Given the description of an element on the screen output the (x, y) to click on. 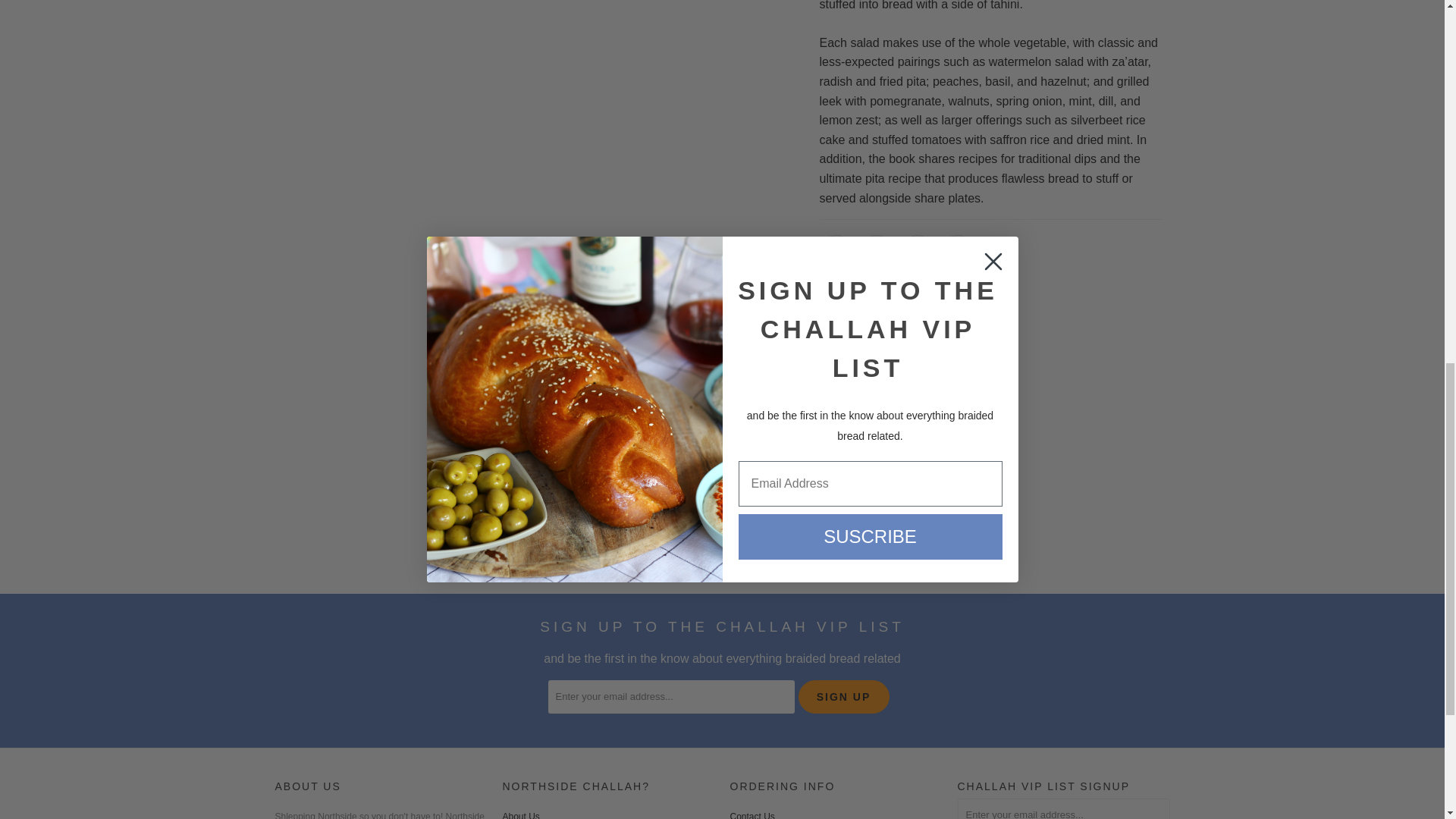
Share this on Twitter (834, 251)
Sign Up (842, 696)
Share this on Facebook (876, 251)
